Given the description of an element on the screen output the (x, y) to click on. 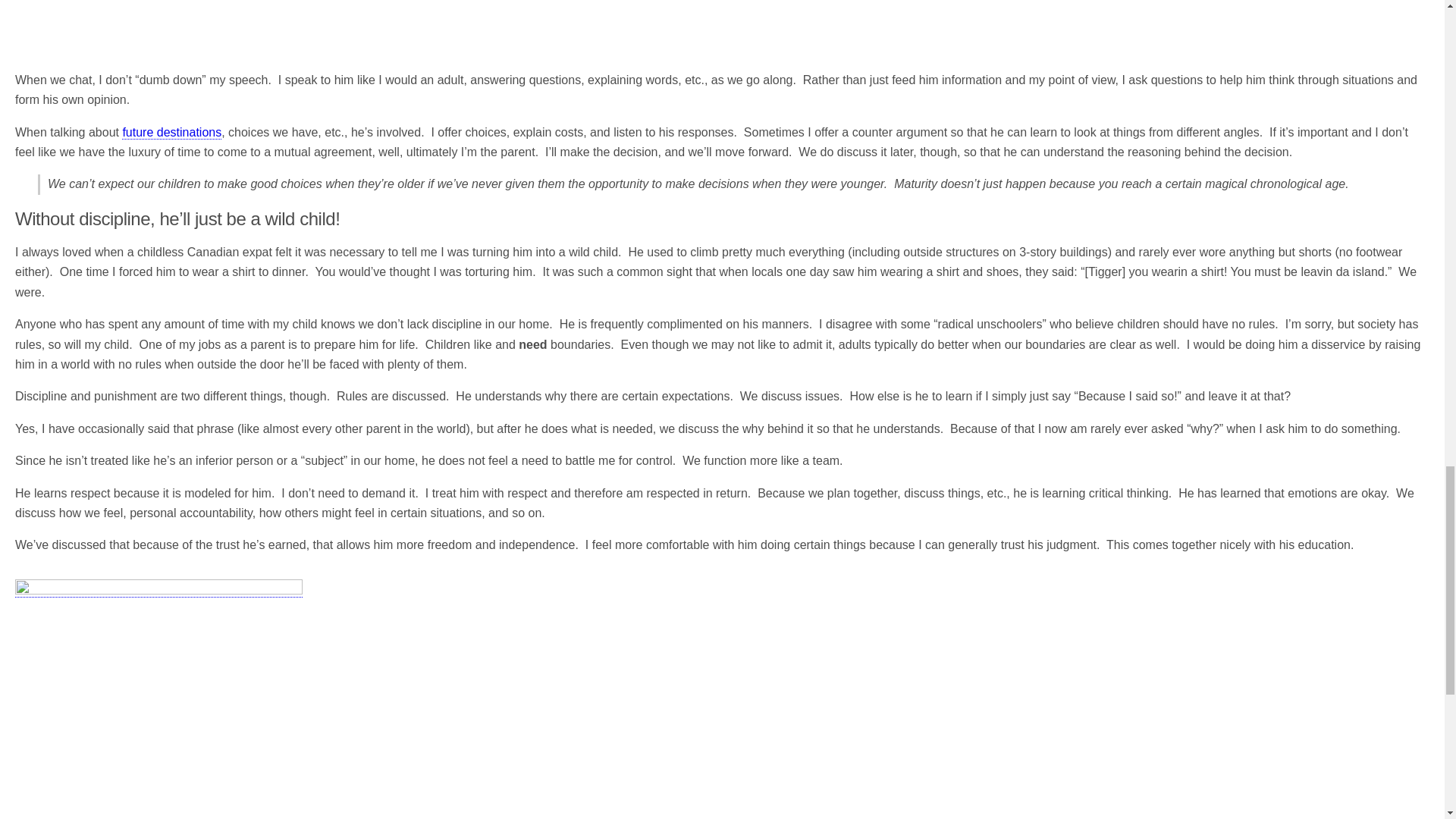
Ready for parasailing in Peru (158, 699)
future destinations (171, 132)
Tigger being a shutterbug (204, 23)
Our next destination has finally been picked! (171, 132)
